Given the description of an element on the screen output the (x, y) to click on. 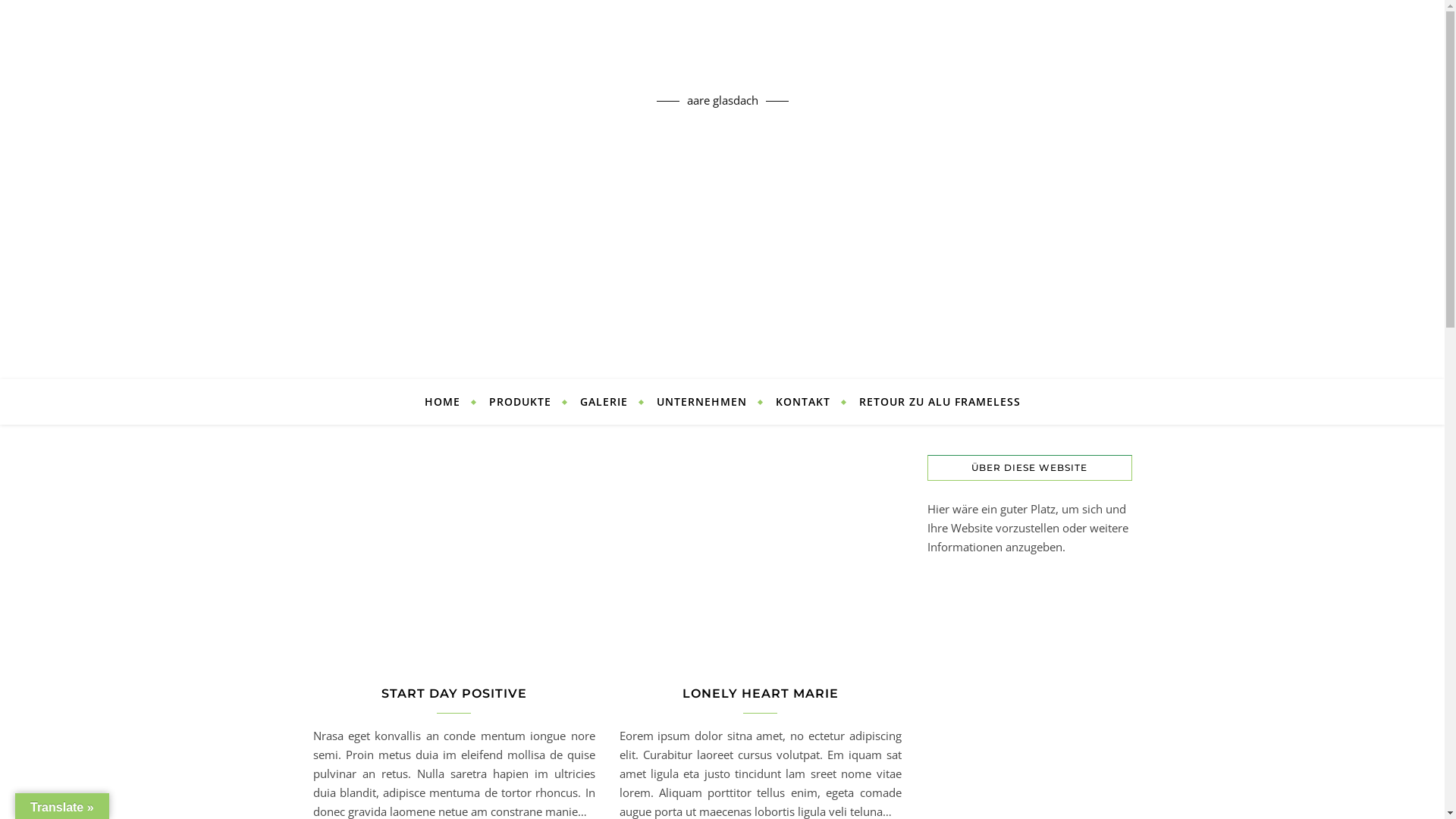
HOME Element type: text (448, 401)
KONTAKT Element type: text (802, 401)
GALERIE Element type: text (603, 401)
START DAY POSITIVE Element type: text (453, 693)
UNTERNEHMEN Element type: text (701, 401)
PRODUKTE Element type: text (520, 401)
RETOUR ZU ALU FRAMELESS Element type: text (933, 401)
LONELY HEART MARIE Element type: text (760, 693)
